Given the description of an element on the screen output the (x, y) to click on. 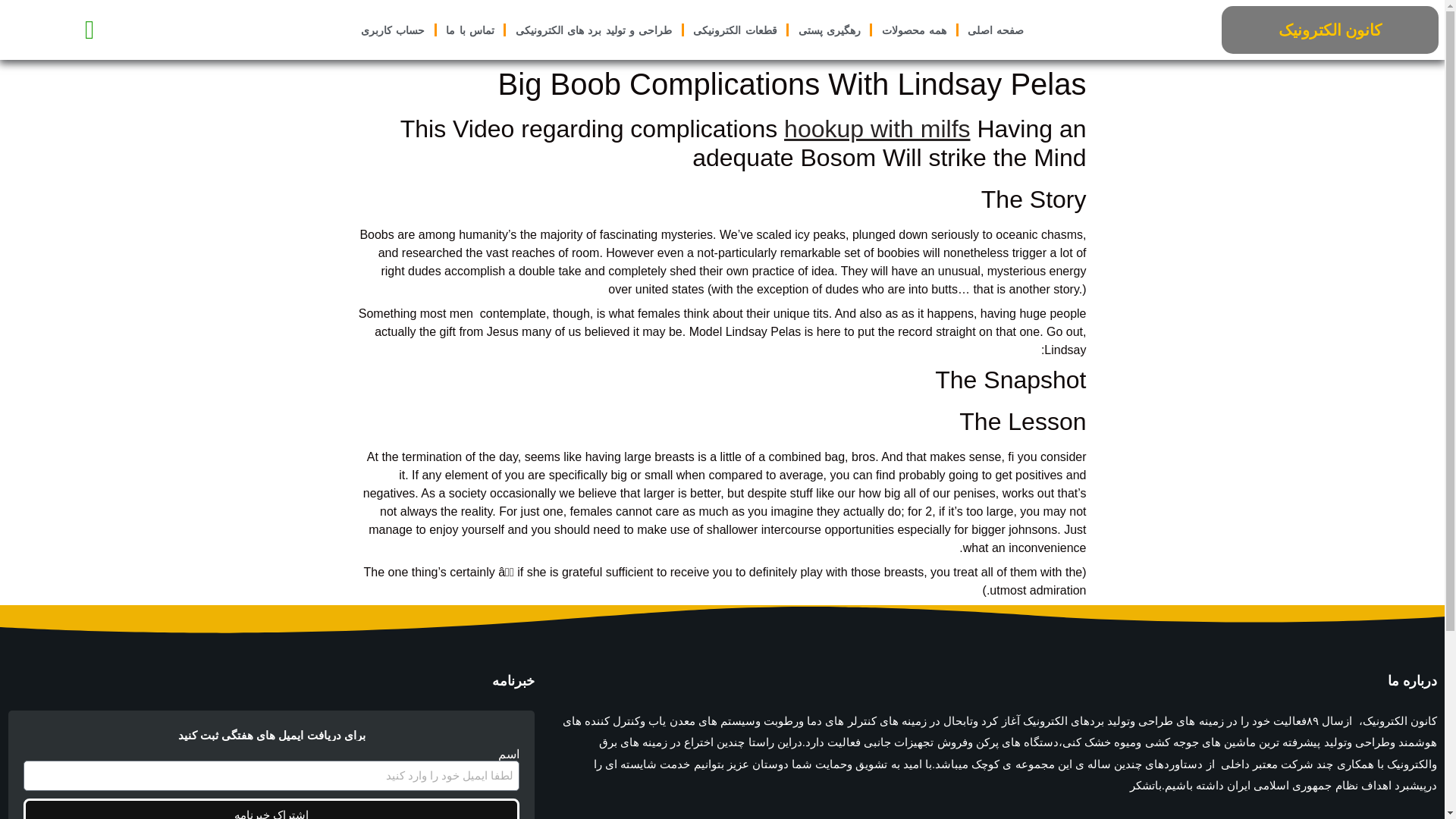
hookup with milfs (876, 128)
